Given the description of an element on the screen output the (x, y) to click on. 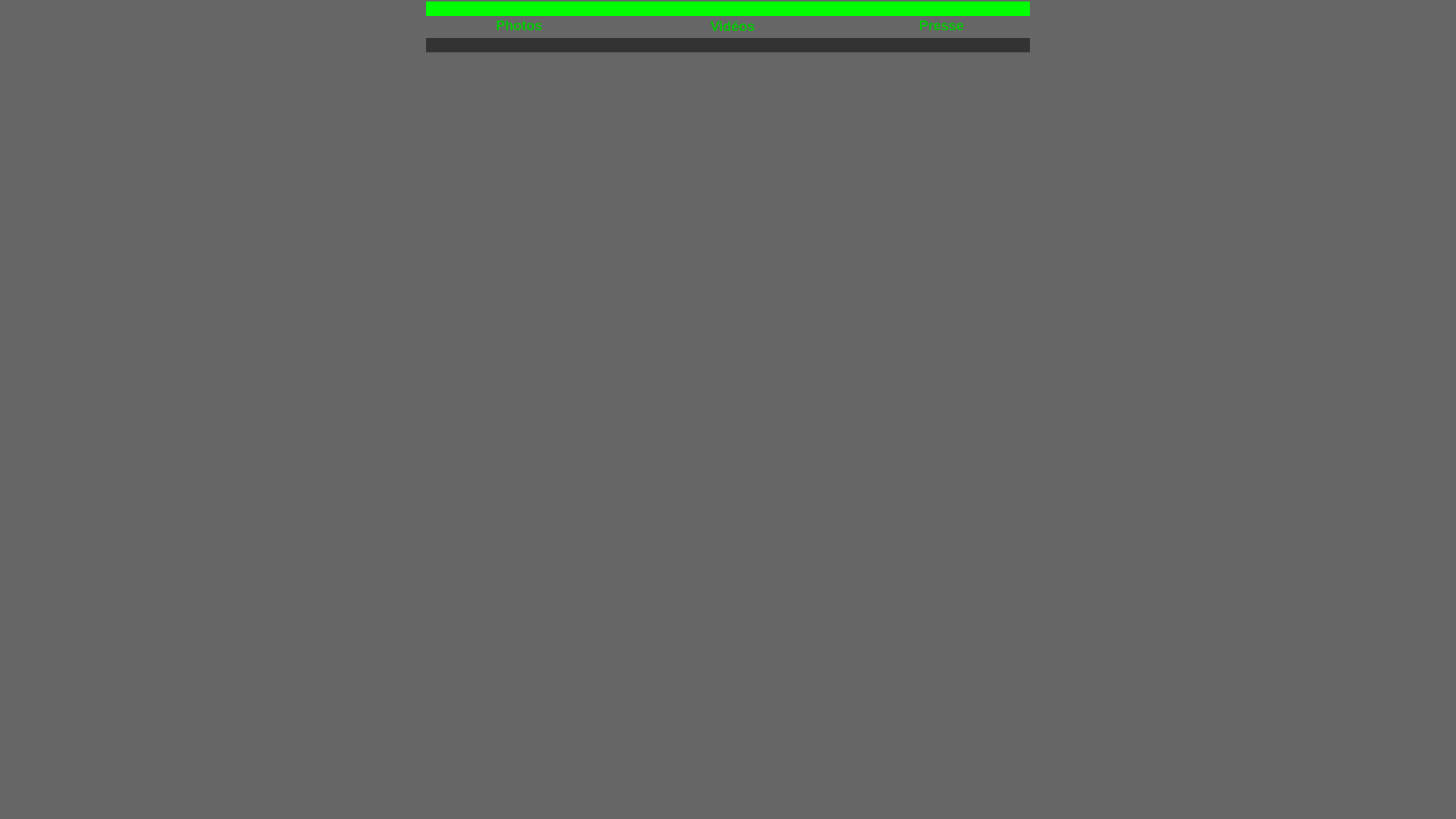
Photos Element type: text (518, 25)
